Given the description of an element on the screen output the (x, y) to click on. 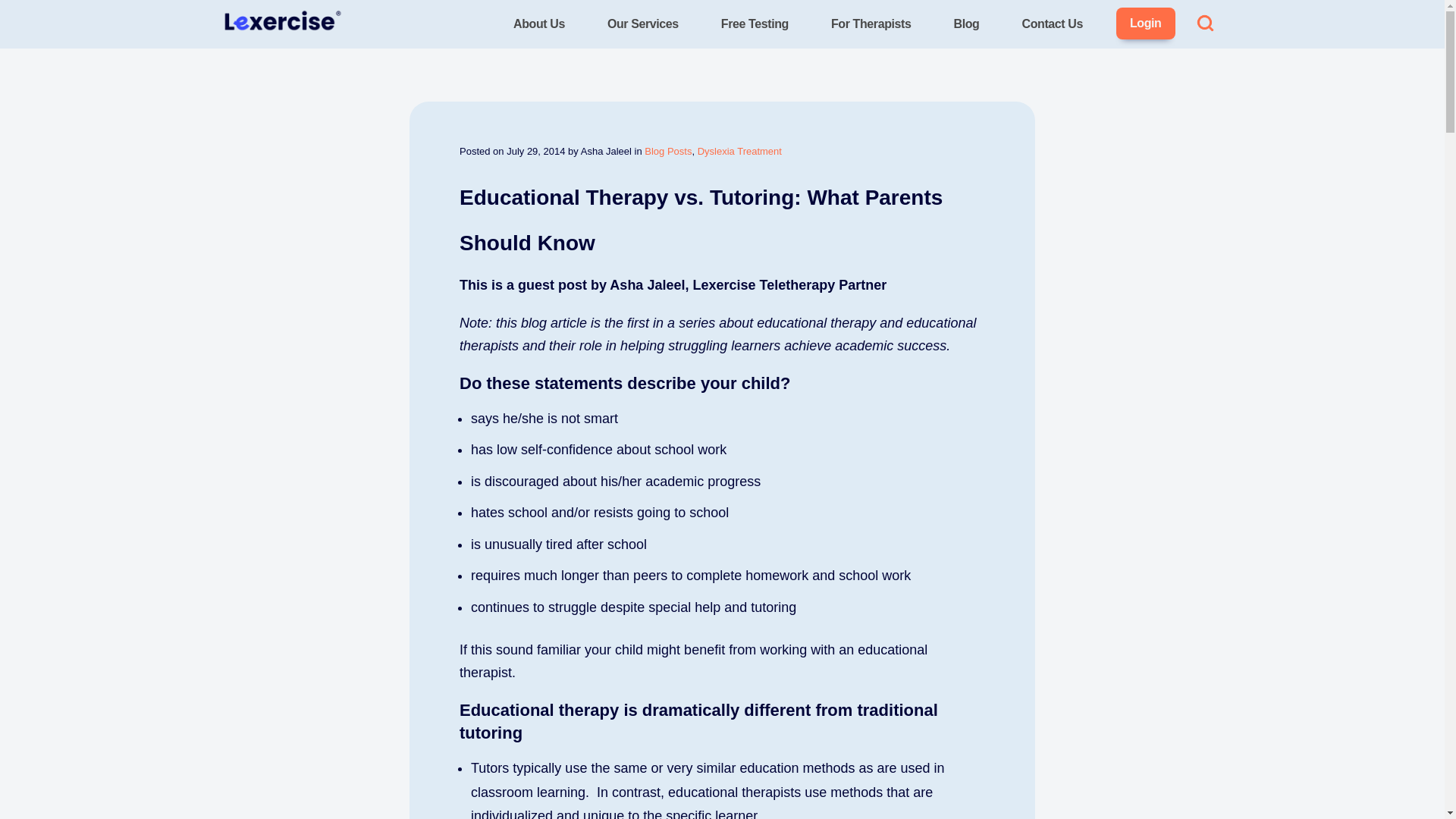
Contact Us (1052, 24)
About Us (539, 24)
For Therapists (871, 24)
Our Services (643, 24)
Lexercise (250, 51)
Blog (967, 24)
Free Testing (754, 24)
